Given the description of an element on the screen output the (x, y) to click on. 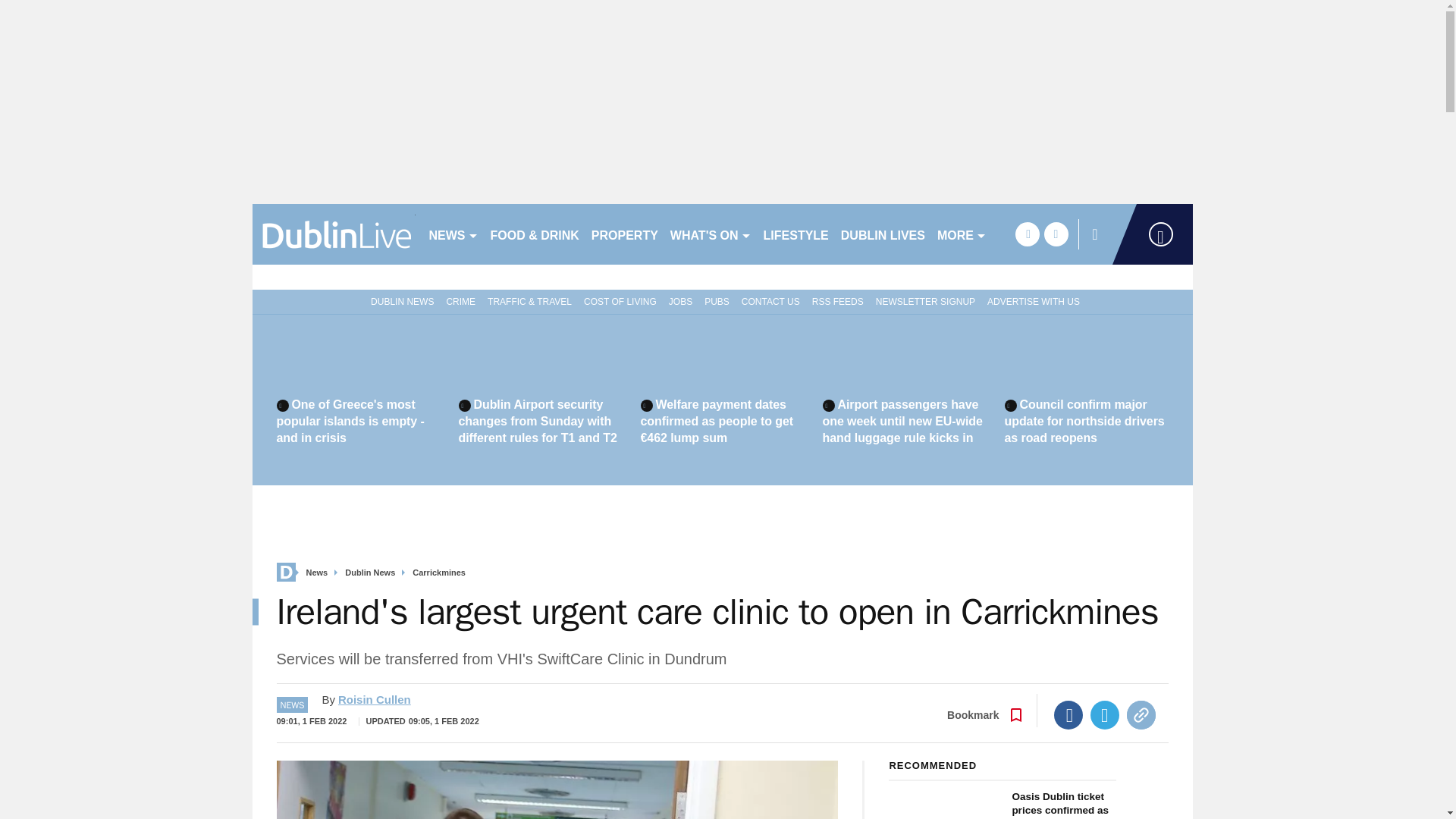
LIFESTYLE (795, 233)
Twitter (1104, 715)
facebook (1026, 233)
twitter (1055, 233)
WHAT'S ON (710, 233)
PROPERTY (624, 233)
NEWS (453, 233)
MORE (961, 233)
dublinlive (332, 233)
Facebook (1068, 715)
